Given the description of an element on the screen output the (x, y) to click on. 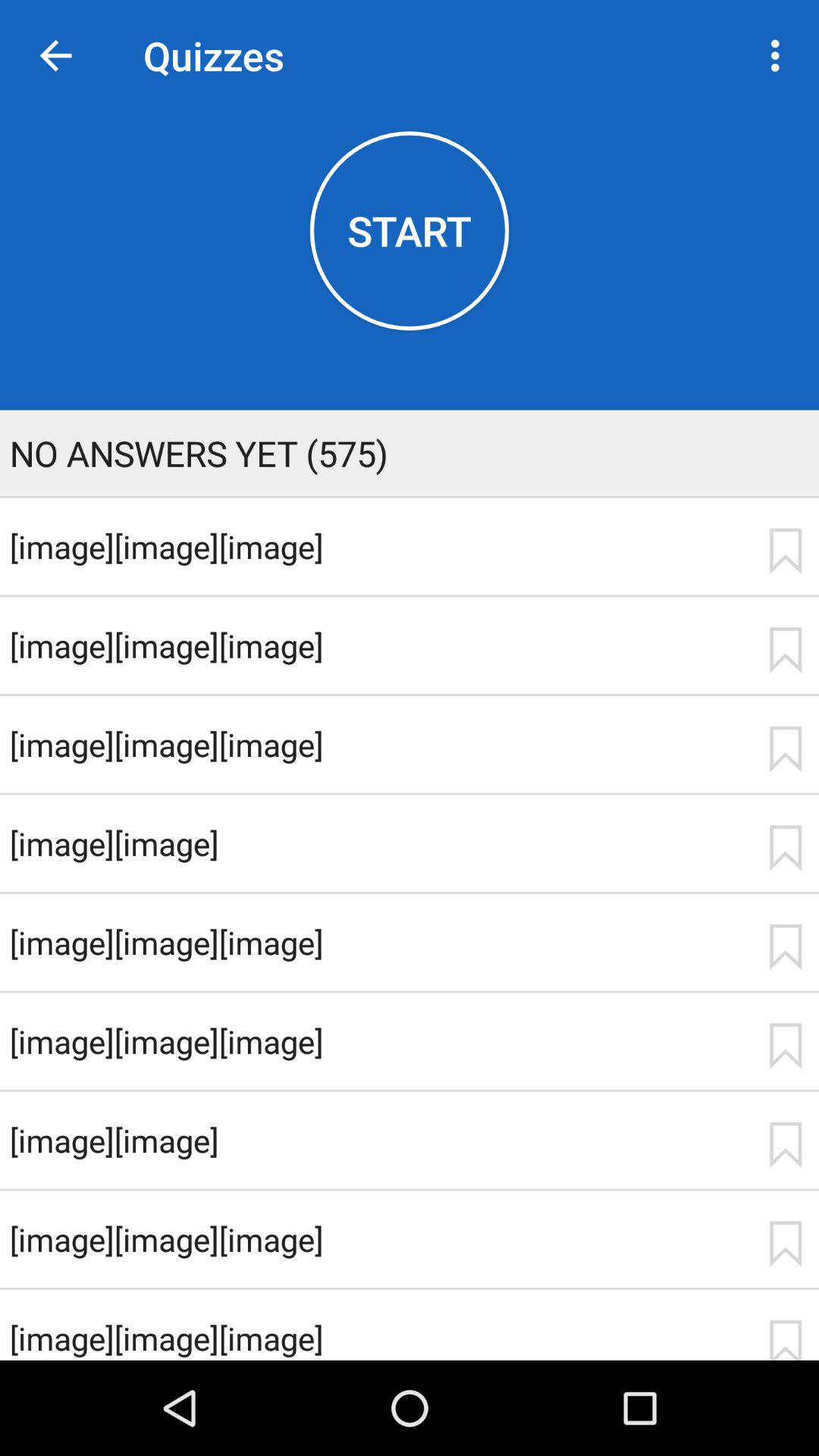
tap the icon to the left of quizzes (55, 55)
